Given the description of an element on the screen output the (x, y) to click on. 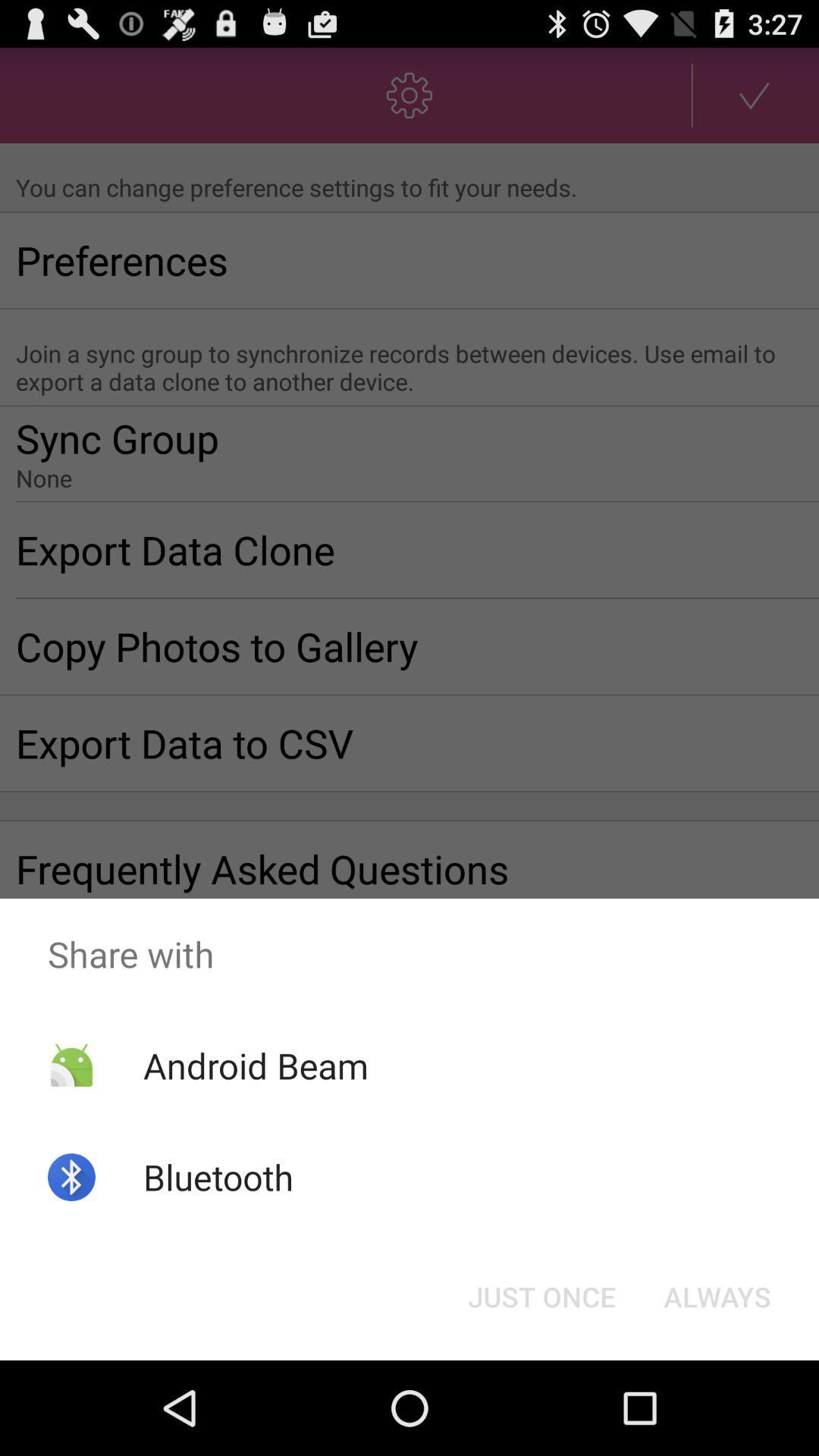
click the icon next to the just once button (717, 1296)
